Given the description of an element on the screen output the (x, y) to click on. 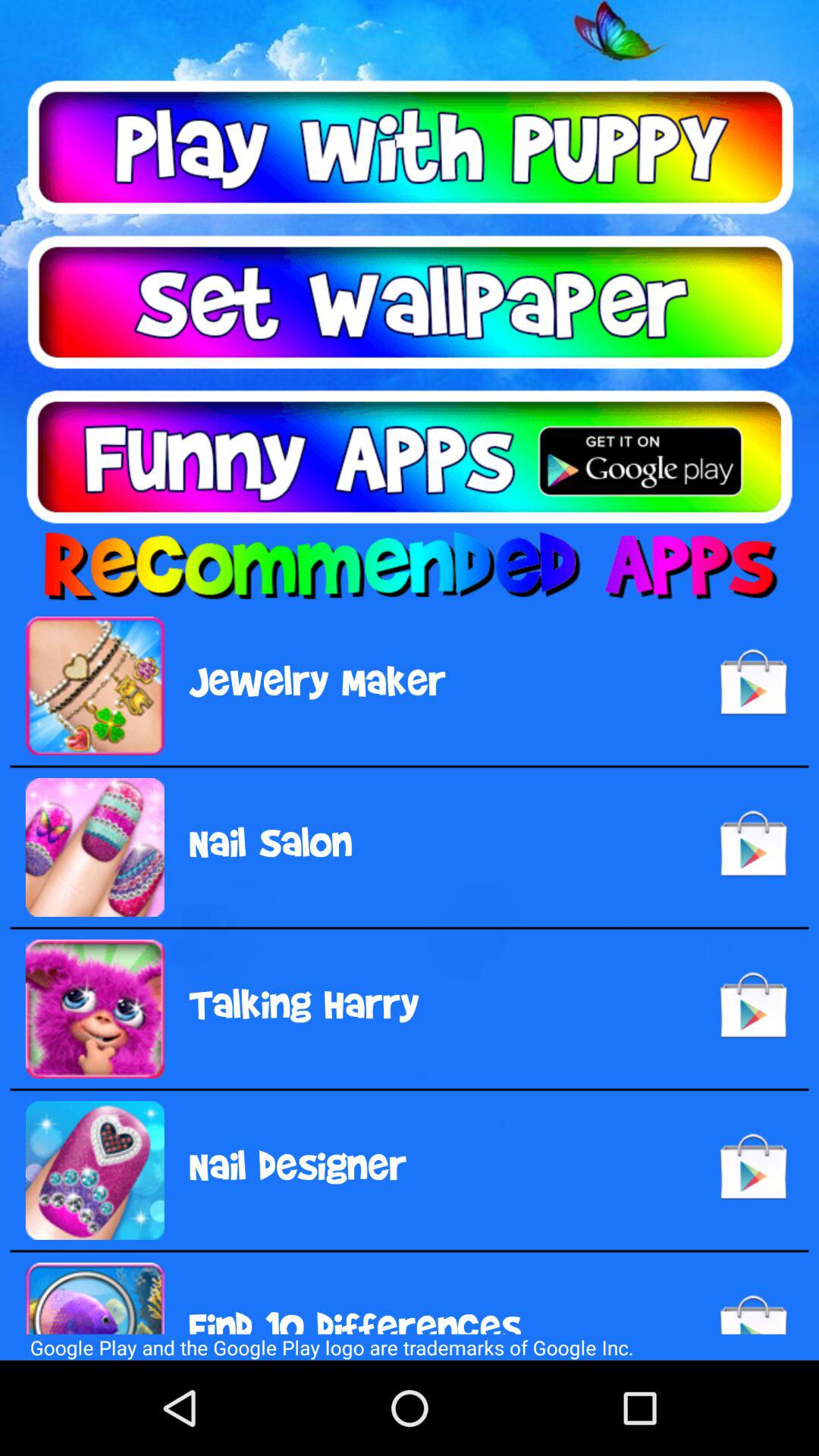
games options (409, 146)
